Given the description of an element on the screen output the (x, y) to click on. 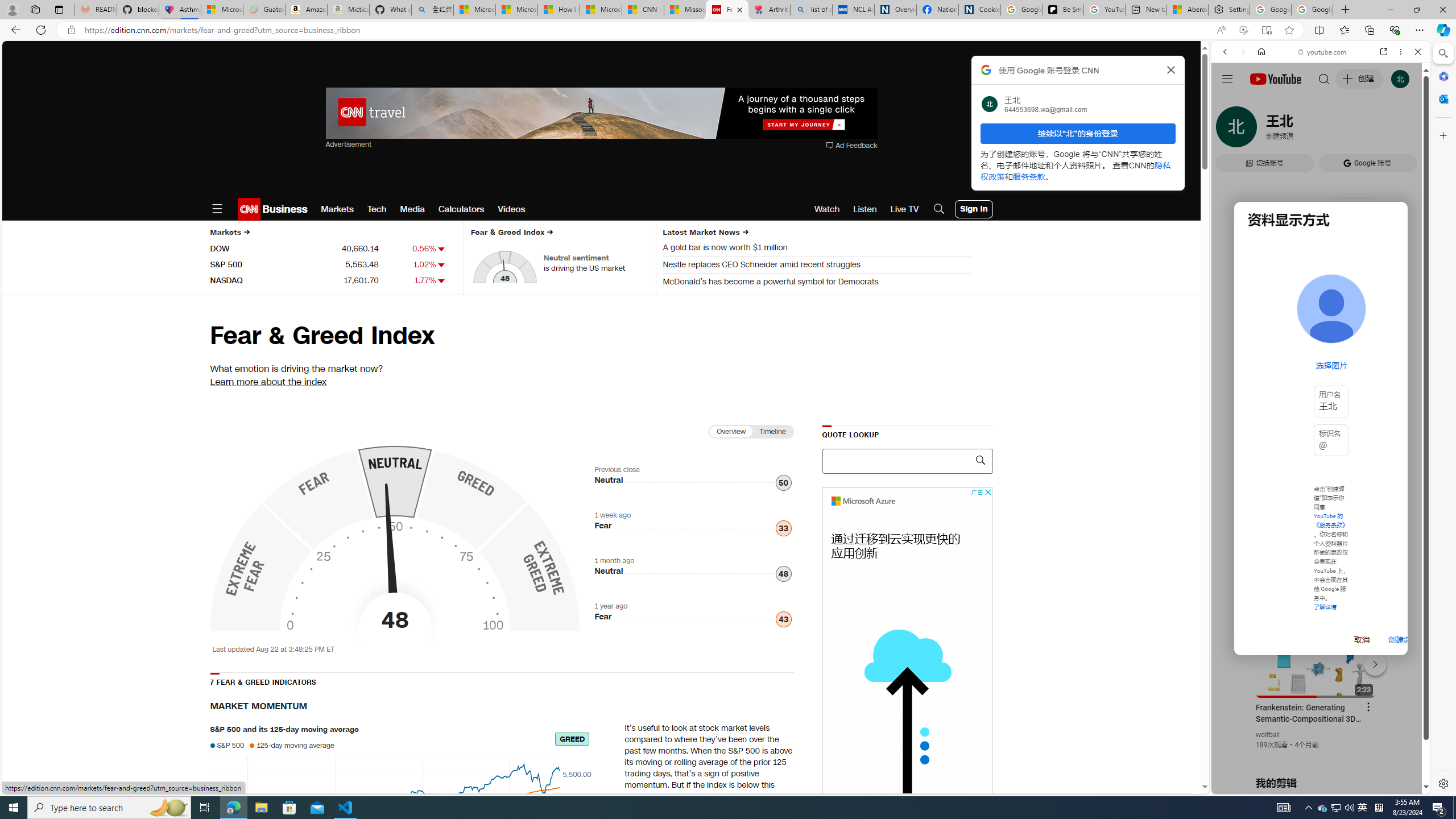
Tech (376, 209)
Google (1320, 281)
CNN - MSN (642, 9)
SEARCH TOOLS (1350, 130)
Forward (1242, 51)
Global web icon (1232, 655)
This site scope (1259, 102)
